Given the description of an element on the screen output the (x, y) to click on. 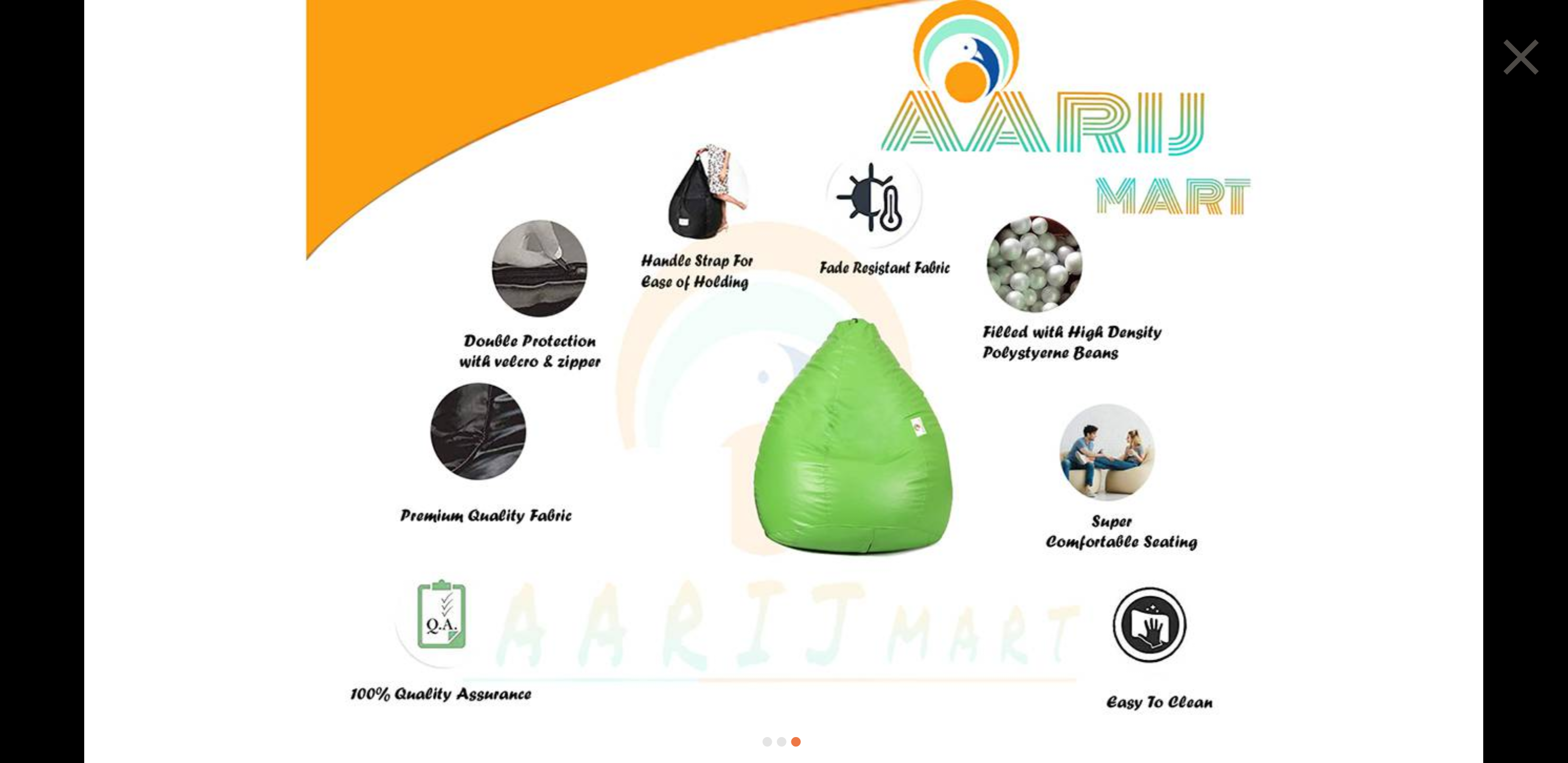
 (1520, 55)
